Given the description of an element on the screen output the (x, y) to click on. 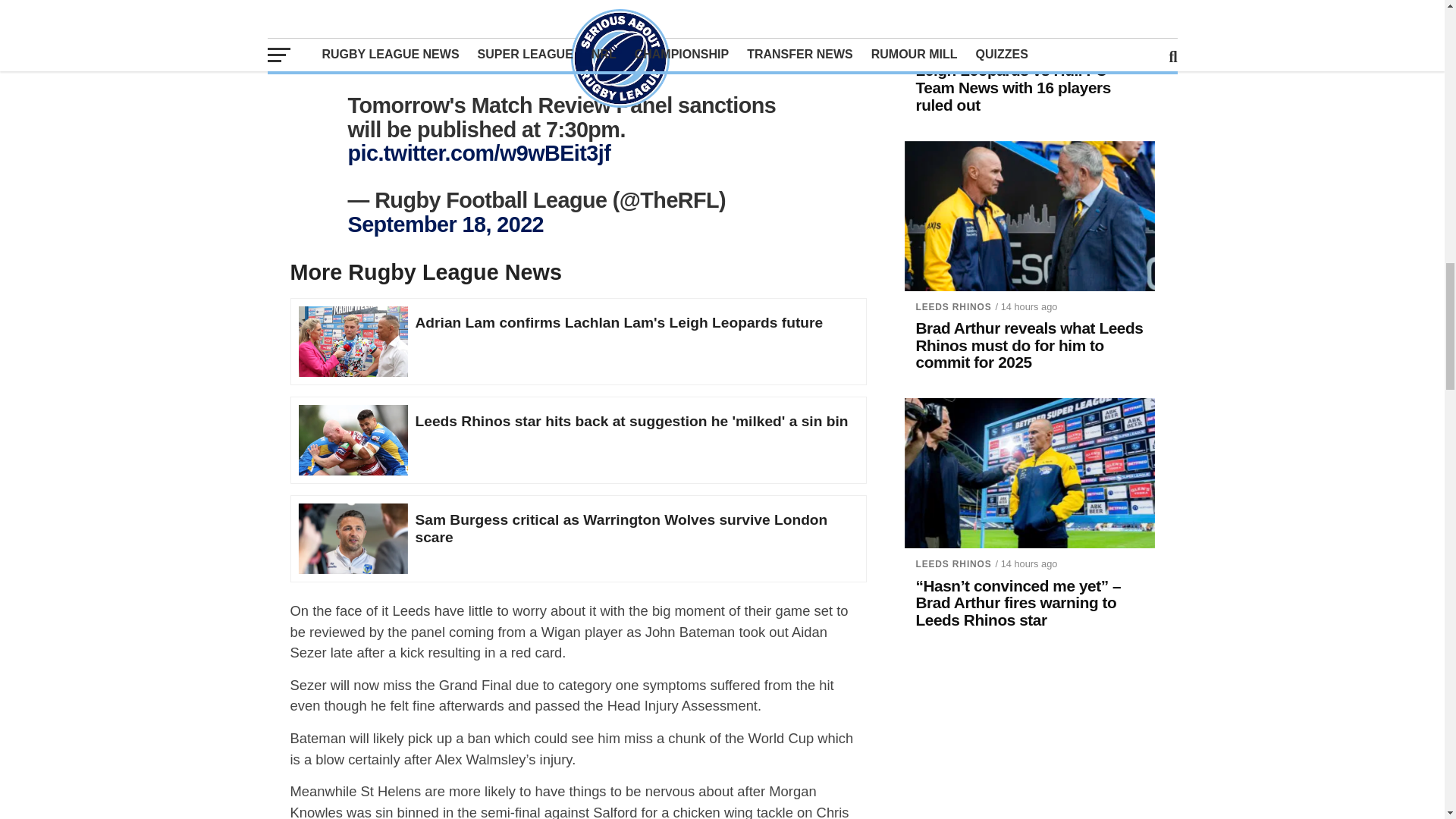
Adrian Lam confirms Lachlan Lam's Leigh Leopards future (352, 337)
